Given the description of an element on the screen output the (x, y) to click on. 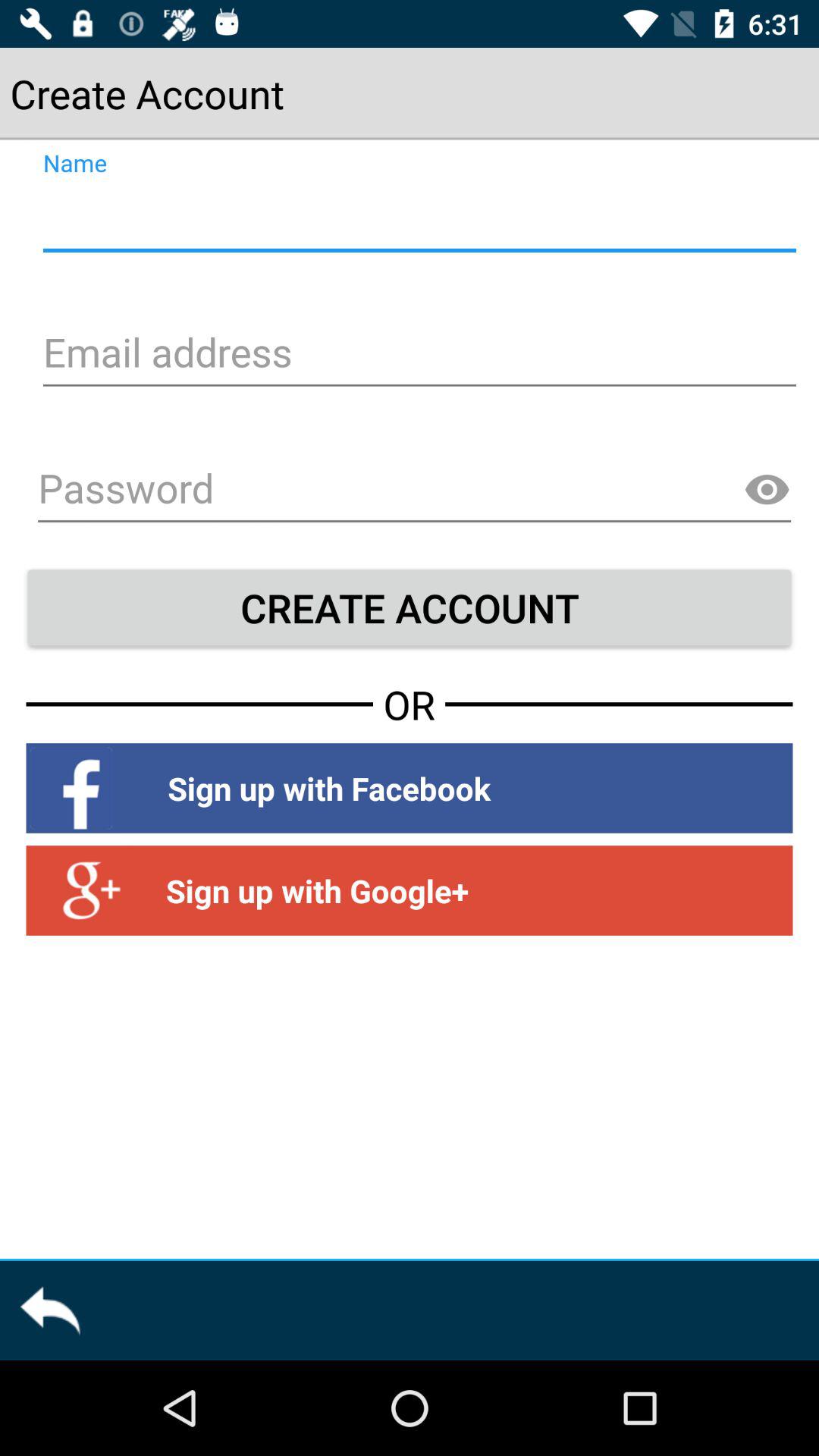
go back button (49, 1310)
